Given the description of an element on the screen output the (x, y) to click on. 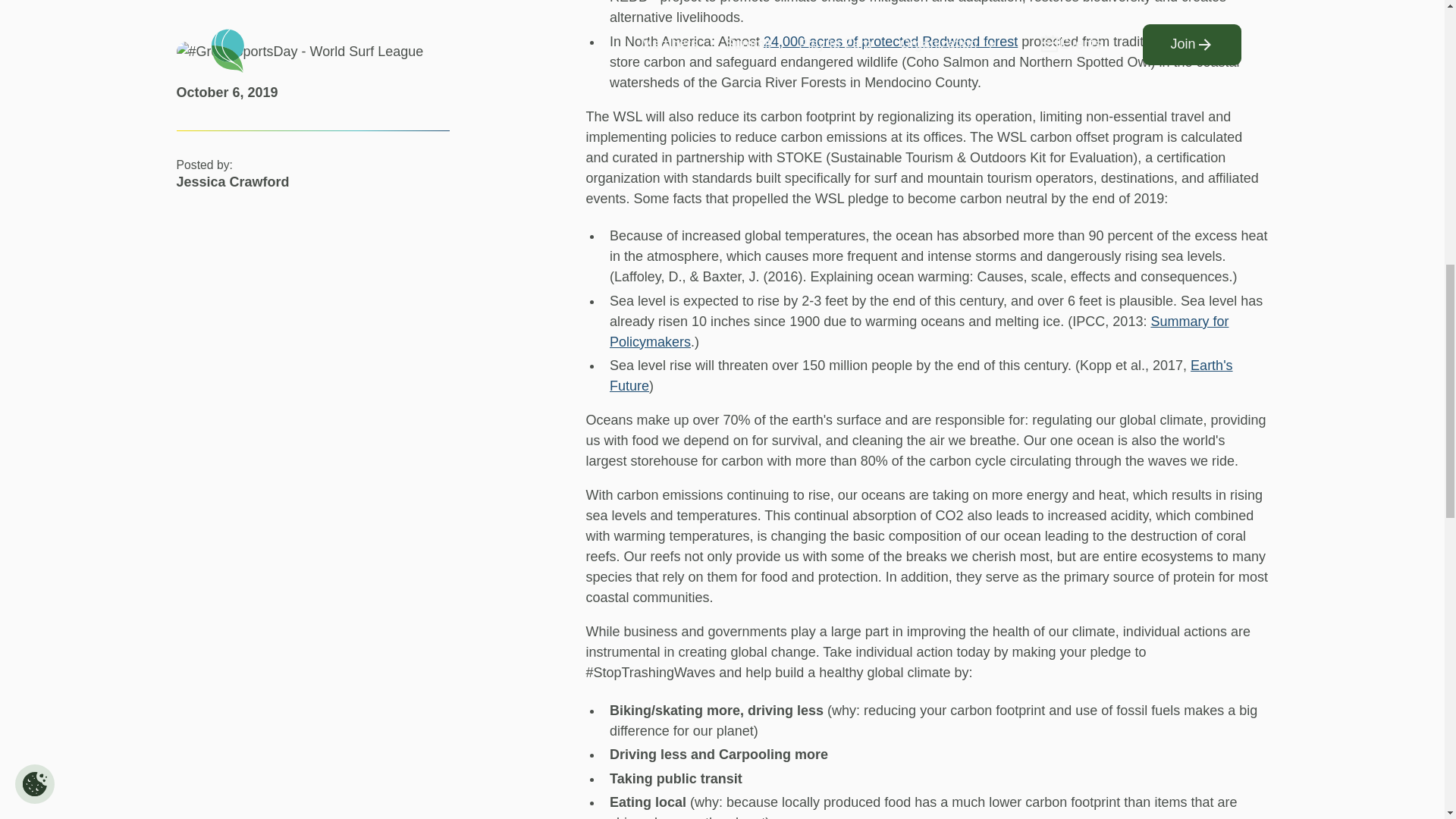
Earth's Future (921, 375)
Summary for Policymakers (919, 331)
24,000 acres of protected Redwood forest (889, 41)
